Given the description of an element on the screen output the (x, y) to click on. 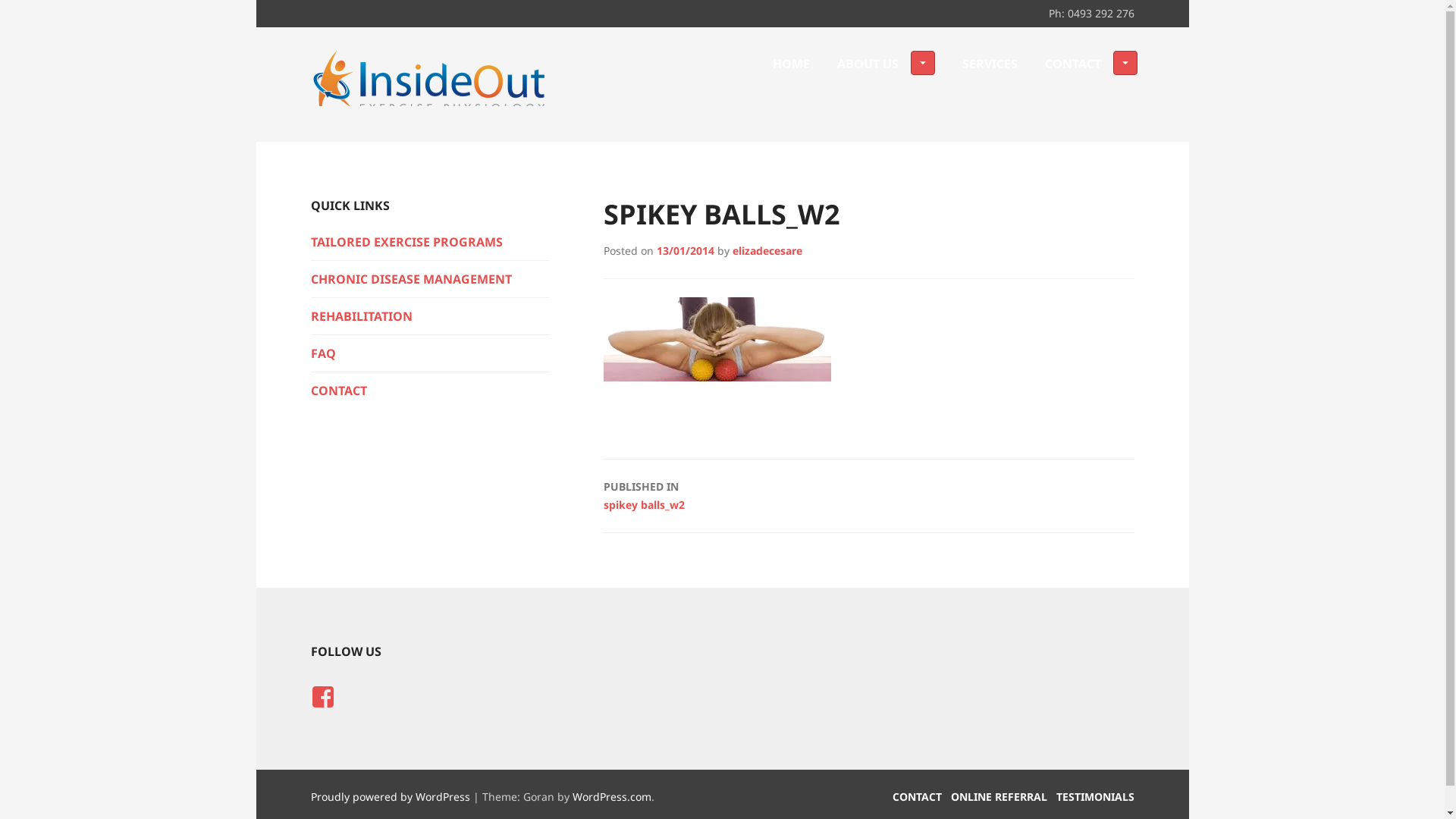
CONTACT Element type: text (429, 390)
TESTIMONIALS Element type: text (1094, 796)
PUBLISHED IN
spikey balls_w2 Element type: text (868, 494)
TAILORED EXERCISE PROGRAMS Element type: text (429, 241)
Proudly powered by WordPress Element type: text (390, 796)
FAQ Element type: text (429, 353)
CHRONIC DISEASE MANAGEMENT Element type: text (429, 278)
InsideOut Exercise Physiology Element type: text (514, 177)
WordPress.com Element type: text (610, 796)
elizadecesare Element type: text (767, 250)
REHABILITATION Element type: text (429, 316)
ONLINE REFERRAL Element type: text (998, 796)
HOME Element type: text (790, 63)
SERVICES Element type: text (988, 63)
ABOUT US Element type: text (886, 63)
CONTACT Element type: text (916, 796)
CONTACT Element type: text (1090, 63)
13/01/2014 Element type: text (685, 250)
FACEBOOK Element type: text (322, 696)
